Given the description of an element on the screen output the (x, y) to click on. 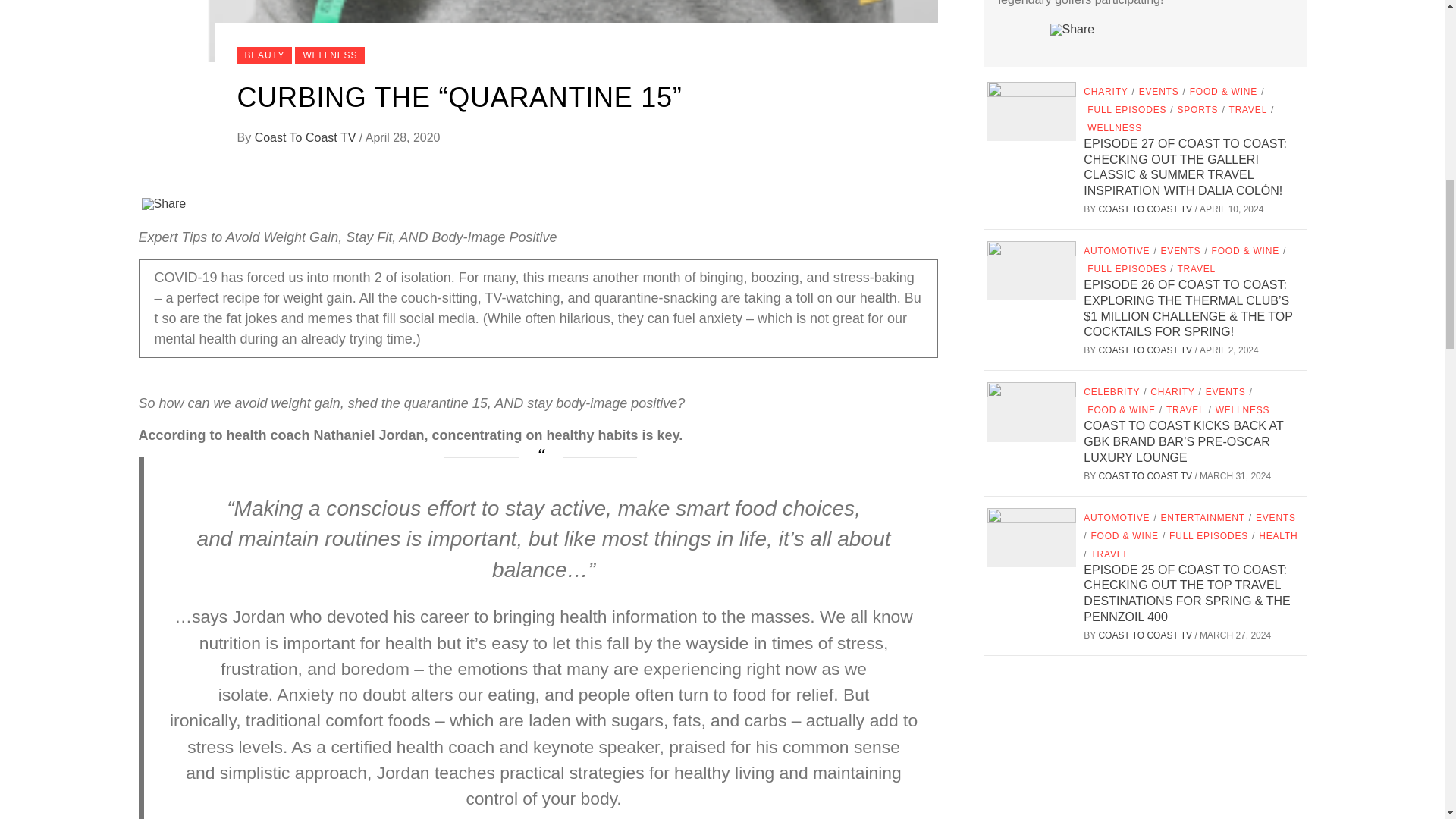
Coast To Coast TV (306, 137)
BEAUTY (263, 54)
WELLNESS (330, 54)
